Given the description of an element on the screen output the (x, y) to click on. 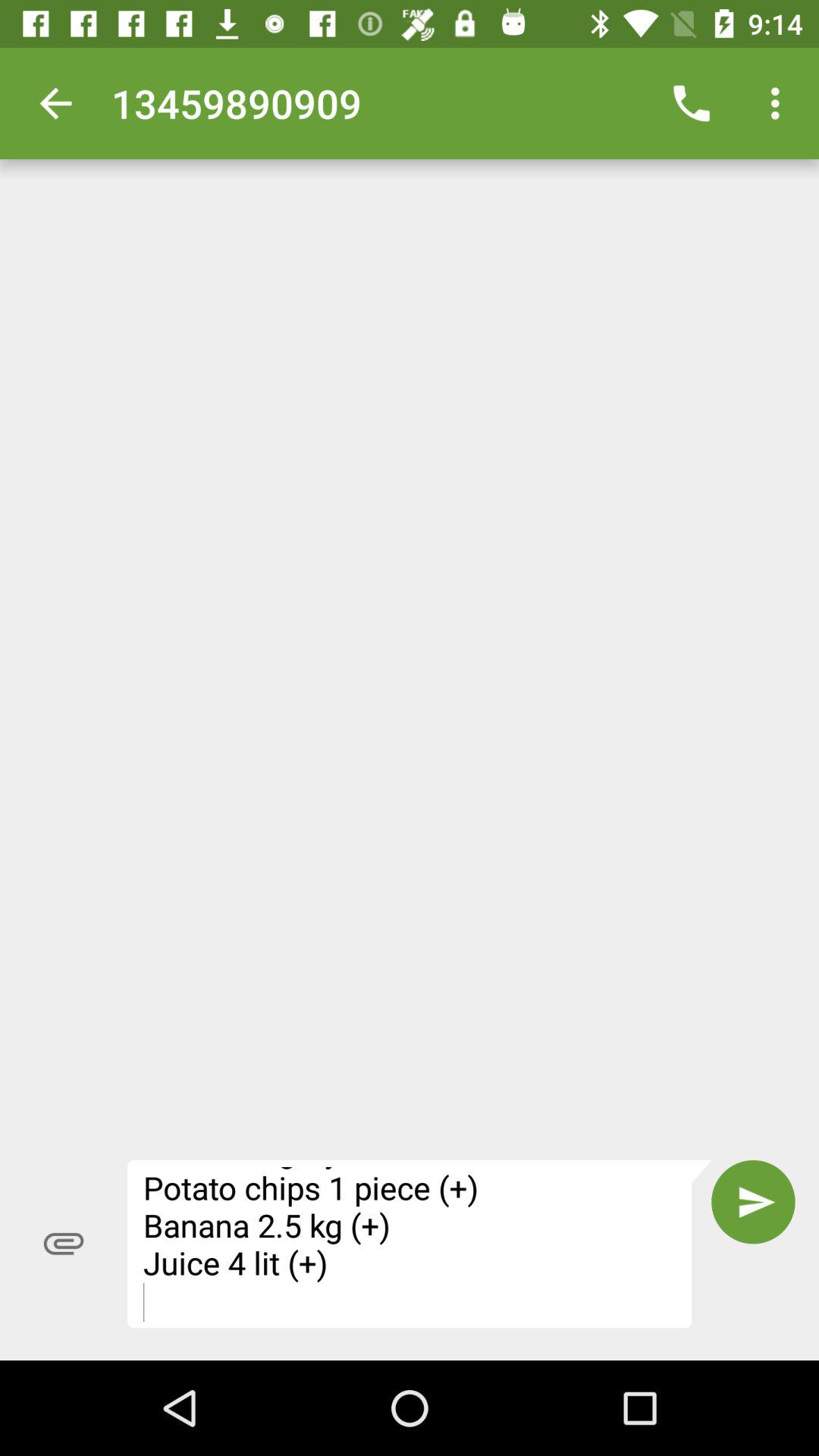
turn on the item to the right of the fivefly shopping list item (753, 1201)
